Given the description of an element on the screen output the (x, y) to click on. 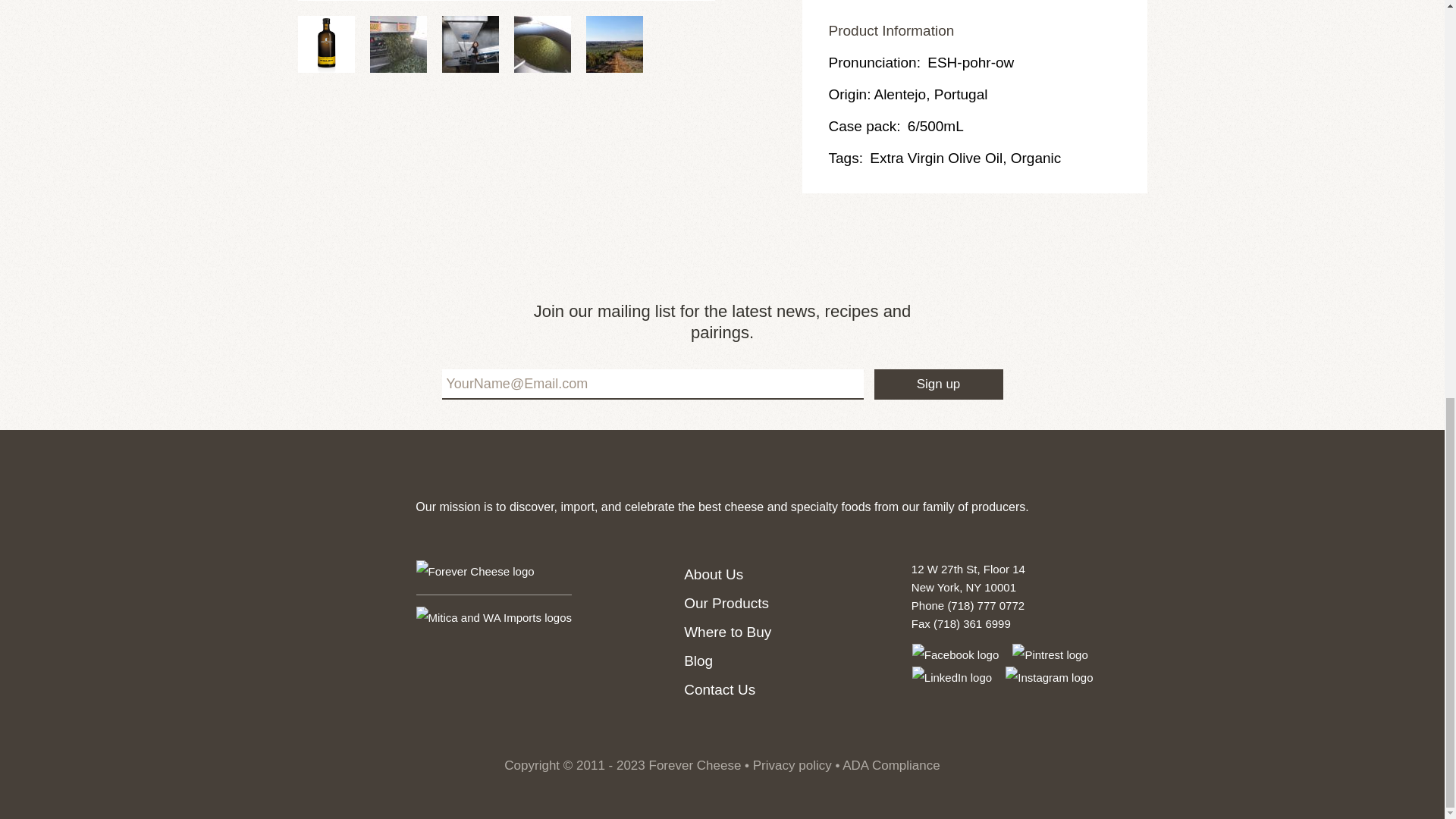
Sign up (938, 384)
